Given the description of an element on the screen output the (x, y) to click on. 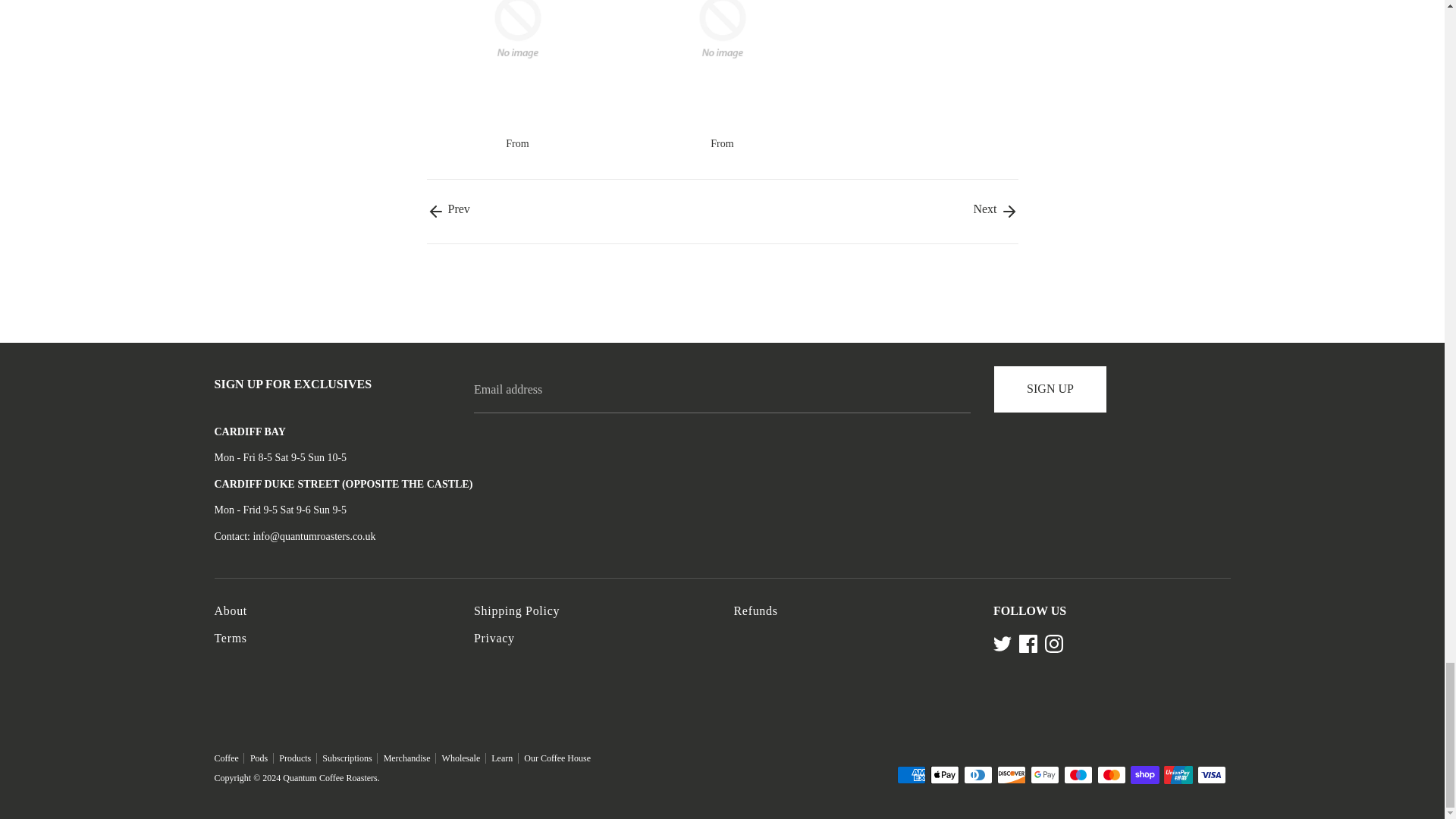
American Express (910, 774)
Apple Pay (944, 774)
Discover (1010, 774)
Diners Club (976, 774)
